Given the description of an element on the screen output the (x, y) to click on. 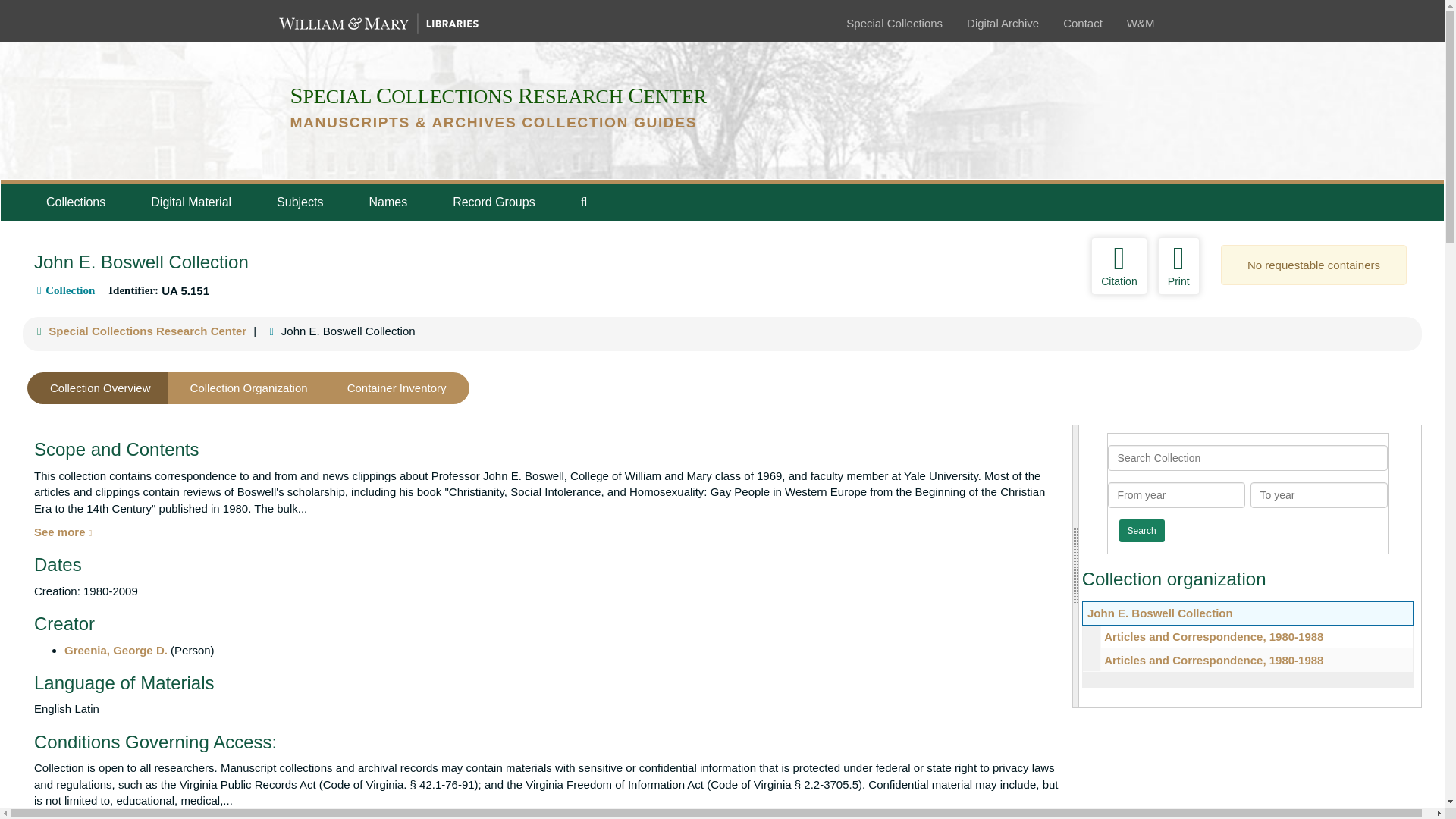
Greenia, George D. (115, 649)
Articles and Correspondence (1247, 636)
Digital Material (190, 202)
Collections (75, 202)
Special Collections (893, 23)
Digital Archive (1002, 23)
See more (62, 531)
Subjects (299, 202)
Articles and Correspondence (1247, 659)
Contact (1082, 23)
